Given the description of an element on the screen output the (x, y) to click on. 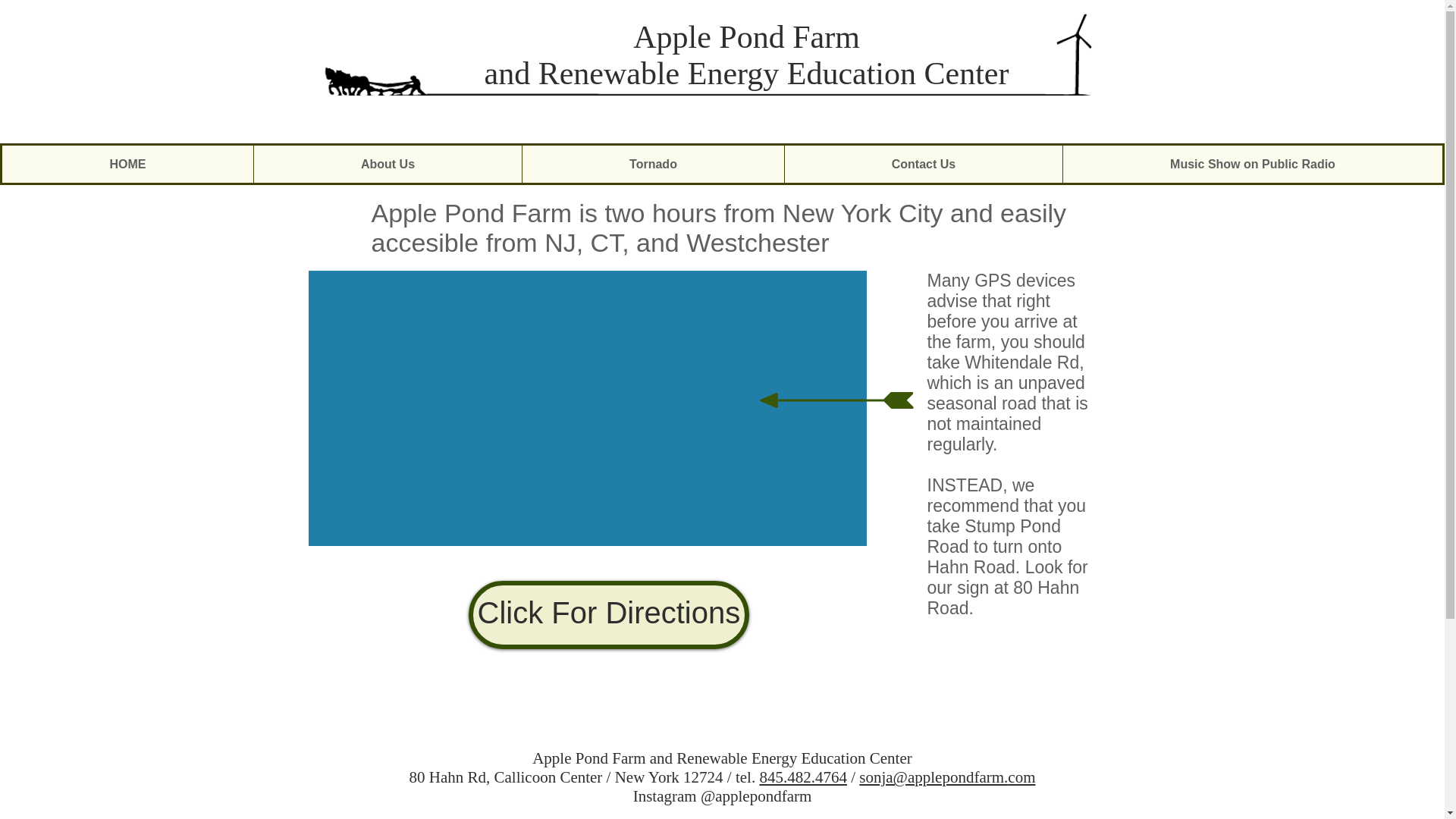
Tornado (652, 163)
845.482.4764 (802, 777)
About Us (387, 163)
HOME (127, 163)
Contact Us (923, 163)
Music Show on Public Radio (1252, 163)
Click For Directions (608, 614)
